Given the description of an element on the screen output the (x, y) to click on. 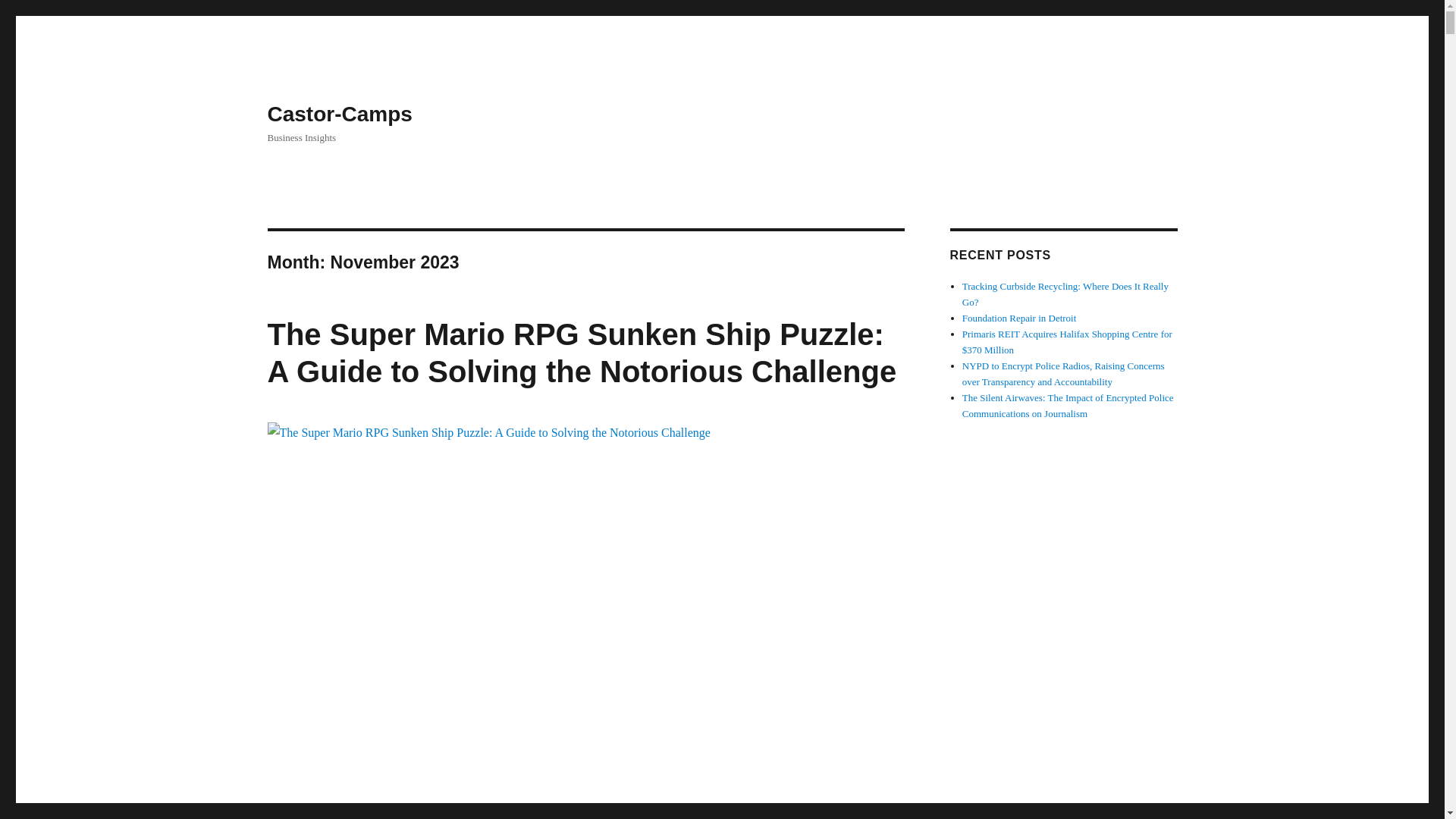
Castor-Camps (339, 114)
